Given the description of an element on the screen output the (x, y) to click on. 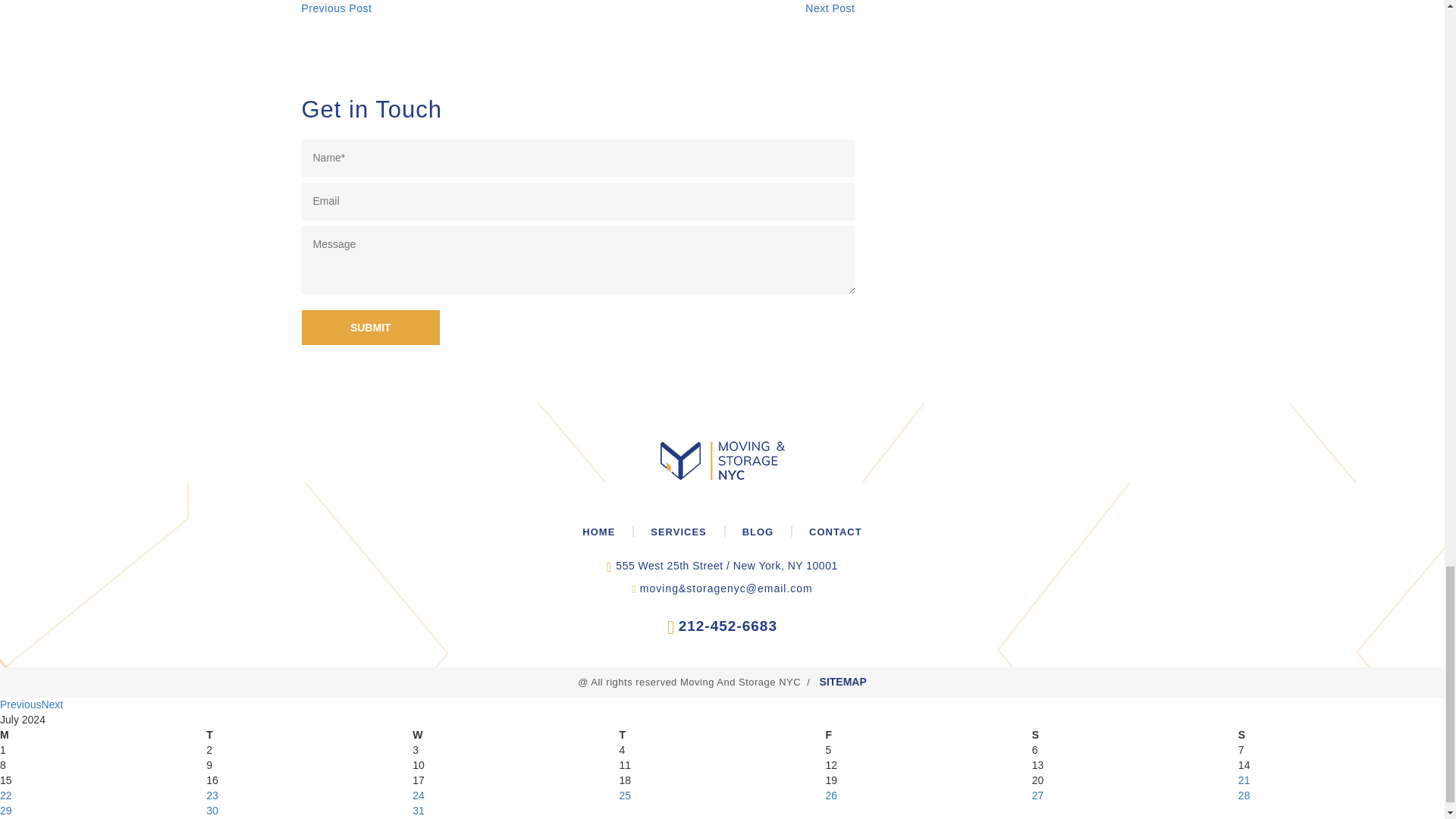
CONTACT (835, 532)
Previous Post (336, 8)
212-452-6683 (727, 625)
SERVICES (678, 532)
Previous (20, 704)
SUBMIT (371, 327)
21 (1244, 779)
HOME (598, 532)
Next (51, 704)
Previous (20, 704)
22 (5, 795)
SUBMIT (371, 327)
BLOG (757, 532)
SITEMAP (842, 681)
Next (51, 704)
